Given the description of an element on the screen output the (x, y) to click on. 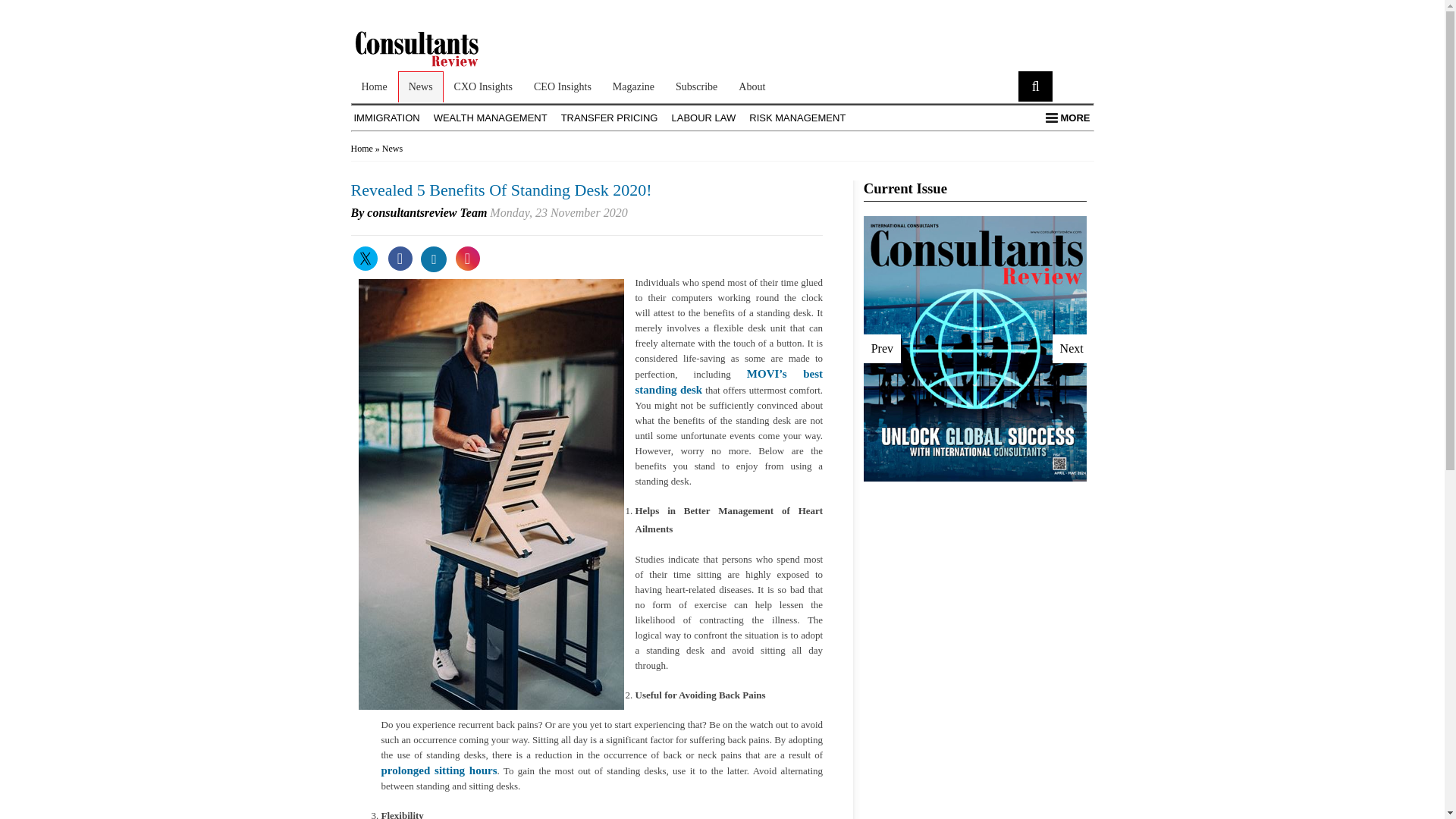
News (420, 86)
CXO Insights (483, 87)
Home (373, 87)
GO (1034, 86)
Magazine (633, 87)
About (752, 87)
CONSULTANTS REVIEW MAGAZINE (435, 63)
Consultants Review (435, 48)
Subscribe (696, 87)
GO (1034, 86)
GO (1034, 86)
CEO Insights (562, 87)
